Given the description of an element on the screen output the (x, y) to click on. 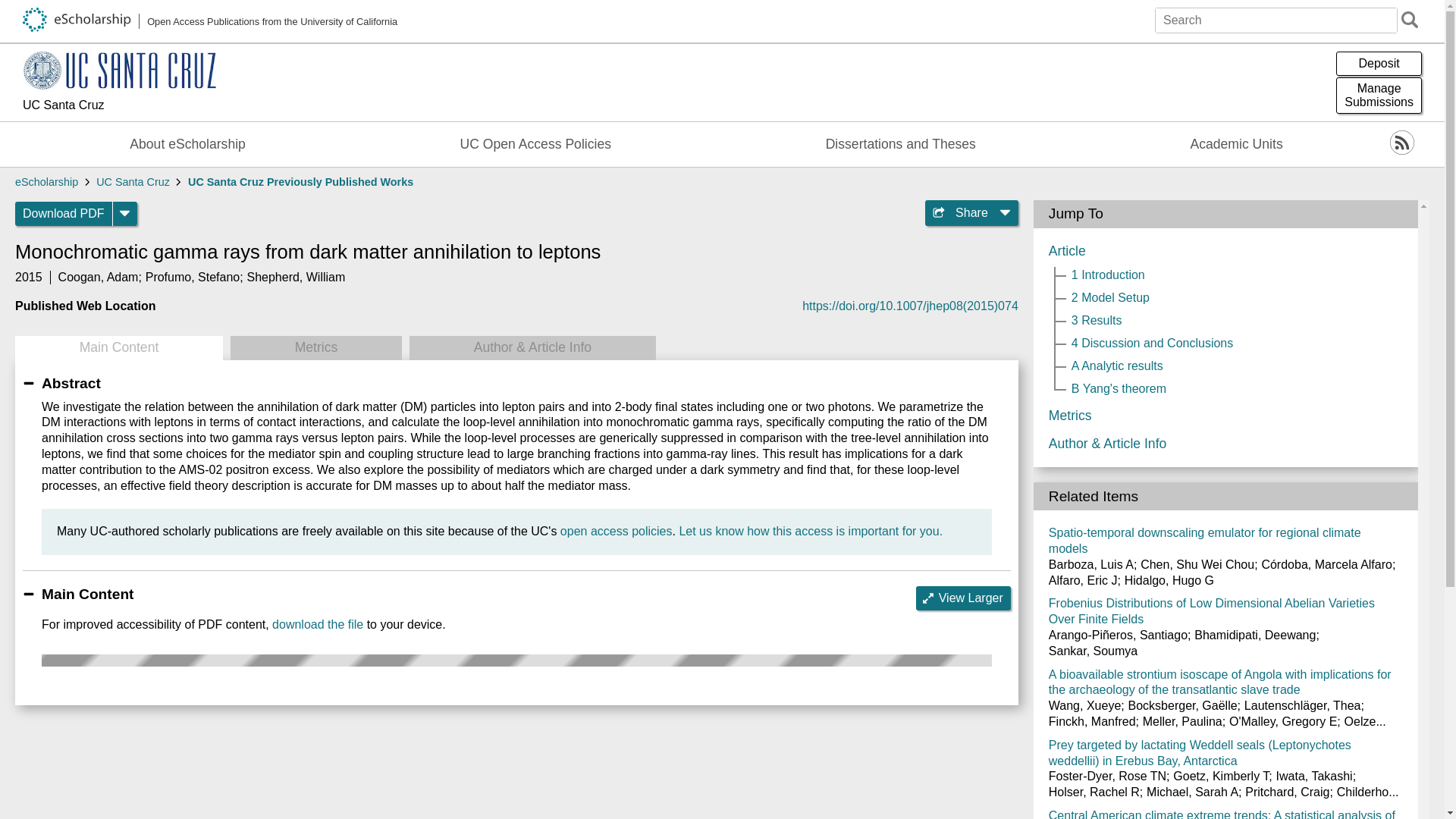
Profumo, Stefano (192, 277)
Shepherd, William (295, 277)
UC Santa Cruz (133, 182)
Dissertations and Theses (901, 143)
Download PDF (63, 213)
Deposit (1379, 63)
Academic Units (1236, 143)
open access policies (616, 530)
UC Open Access Policies (535, 143)
Open Access Publications from the University of California (210, 21)
